Given the description of an element on the screen output the (x, y) to click on. 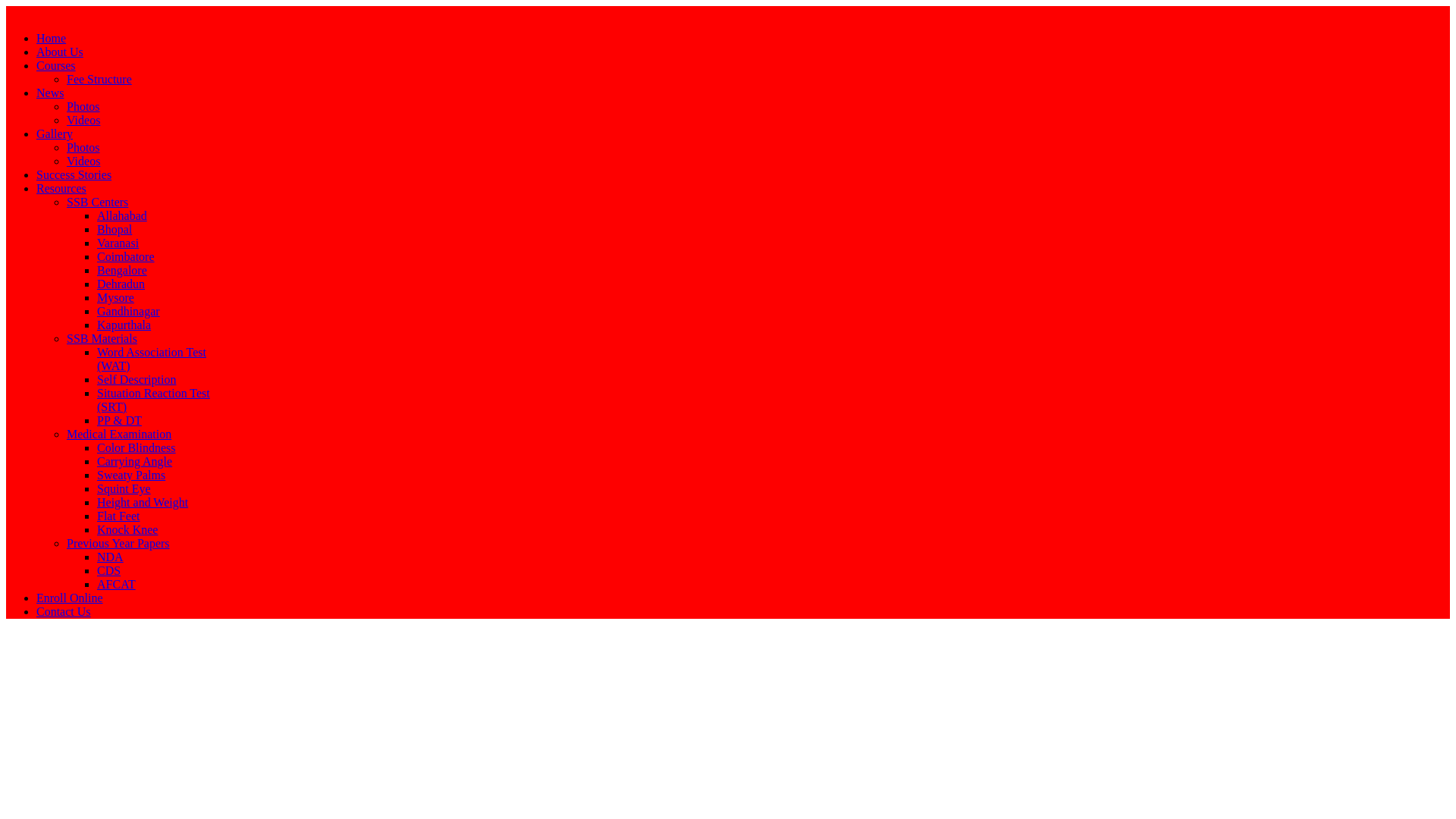
SSB Centers (97, 201)
AFCAT (116, 584)
Videos (83, 160)
Varanasi (117, 242)
Videos (83, 119)
Color Blindness (136, 447)
Allahabad (122, 215)
Flat Feet (118, 515)
About Us (59, 51)
Knock Knee (127, 529)
